Given the description of an element on the screen output the (x, y) to click on. 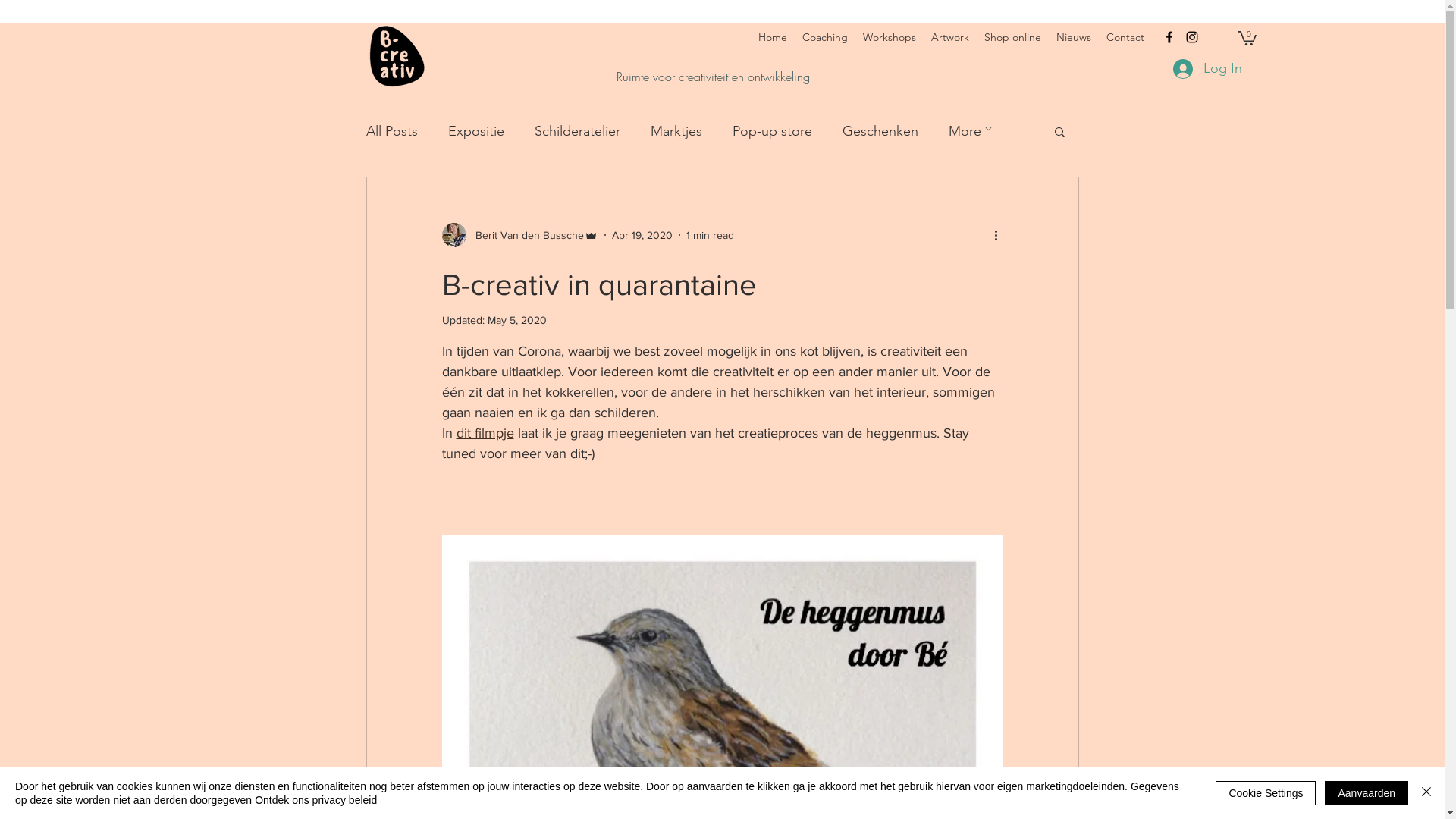
Log In Element type: text (1207, 68)
0 Element type: text (1246, 37)
Expositie Element type: text (475, 130)
Coaching Element type: text (824, 36)
Contact Element type: text (1124, 36)
Ontdek ons privacy beleid Element type: text (315, 799)
Pop-up store Element type: text (772, 130)
All Posts Element type: text (391, 130)
Berit Van den Bussche Element type: text (519, 234)
Home Element type: text (772, 36)
Schilderatelier Element type: text (576, 130)
Geschenken Element type: text (879, 130)
Workshops Element type: text (889, 36)
Shop online Element type: text (1012, 36)
Nieuws Element type: text (1073, 36)
Cookie Settings Element type: text (1265, 793)
Marktjes Element type: text (676, 130)
dit filmpje Element type: text (485, 432)
Aanvaarden Element type: text (1366, 793)
Artwork Element type: text (949, 36)
